Given the description of an element on the screen output the (x, y) to click on. 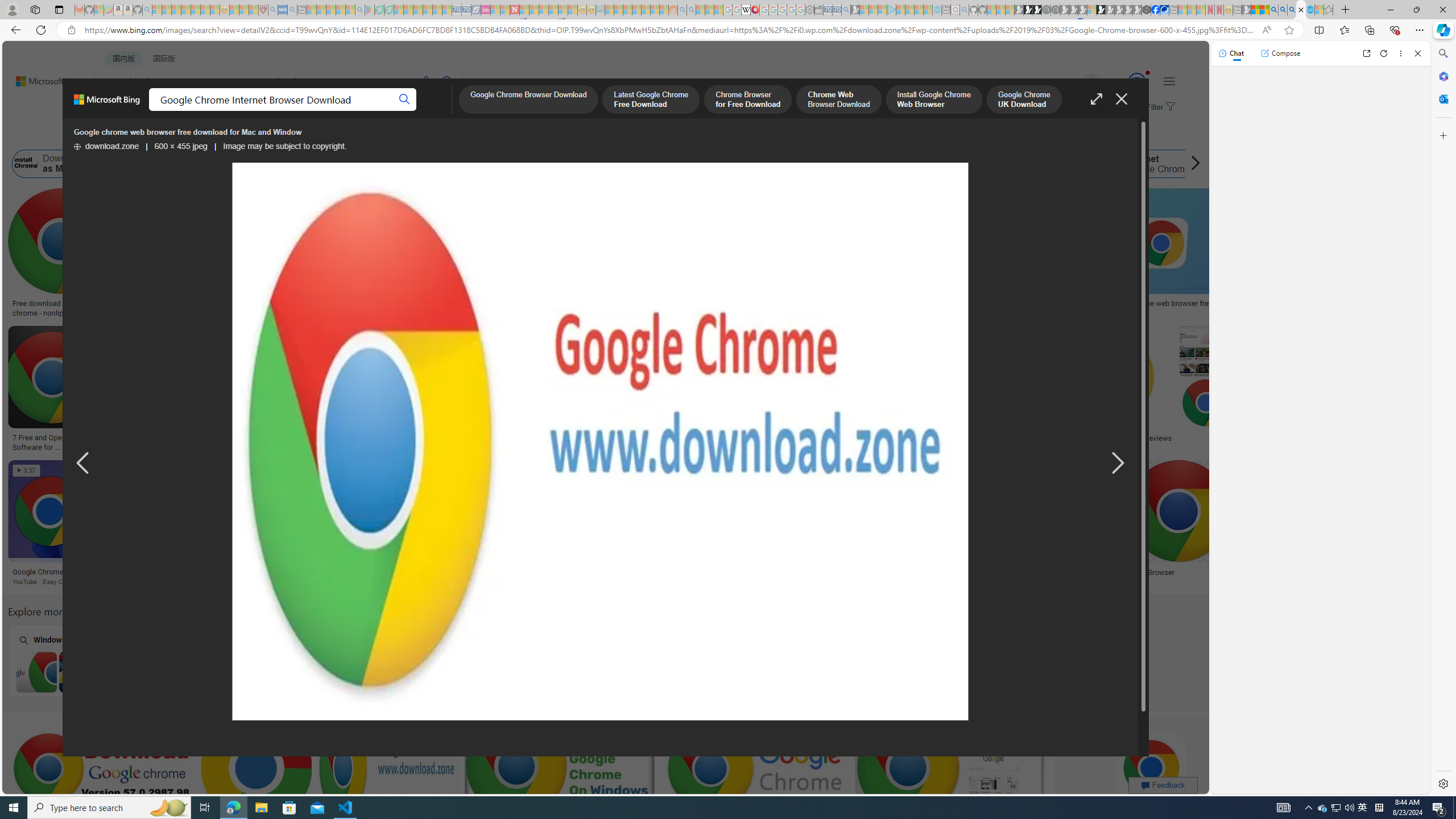
Google Chrome Download The Fast Secure Browser From Google (377, 441)
Download Google Chrome As My Web Browser (272, 571)
Dropdown Menu (451, 111)
Descargar Google Chrome Para Pc 2021 Windows 7810 (206, 437)
wizardsgase - Blog (826, 303)
ACADEMIC (360, 111)
Download Google Chrome as My Web Browser (87, 163)
Apk for PC Windows 10 (661, 660)
Download Google Chrome As My Web BrowserSave (283, 524)
